Given the description of an element on the screen output the (x, y) to click on. 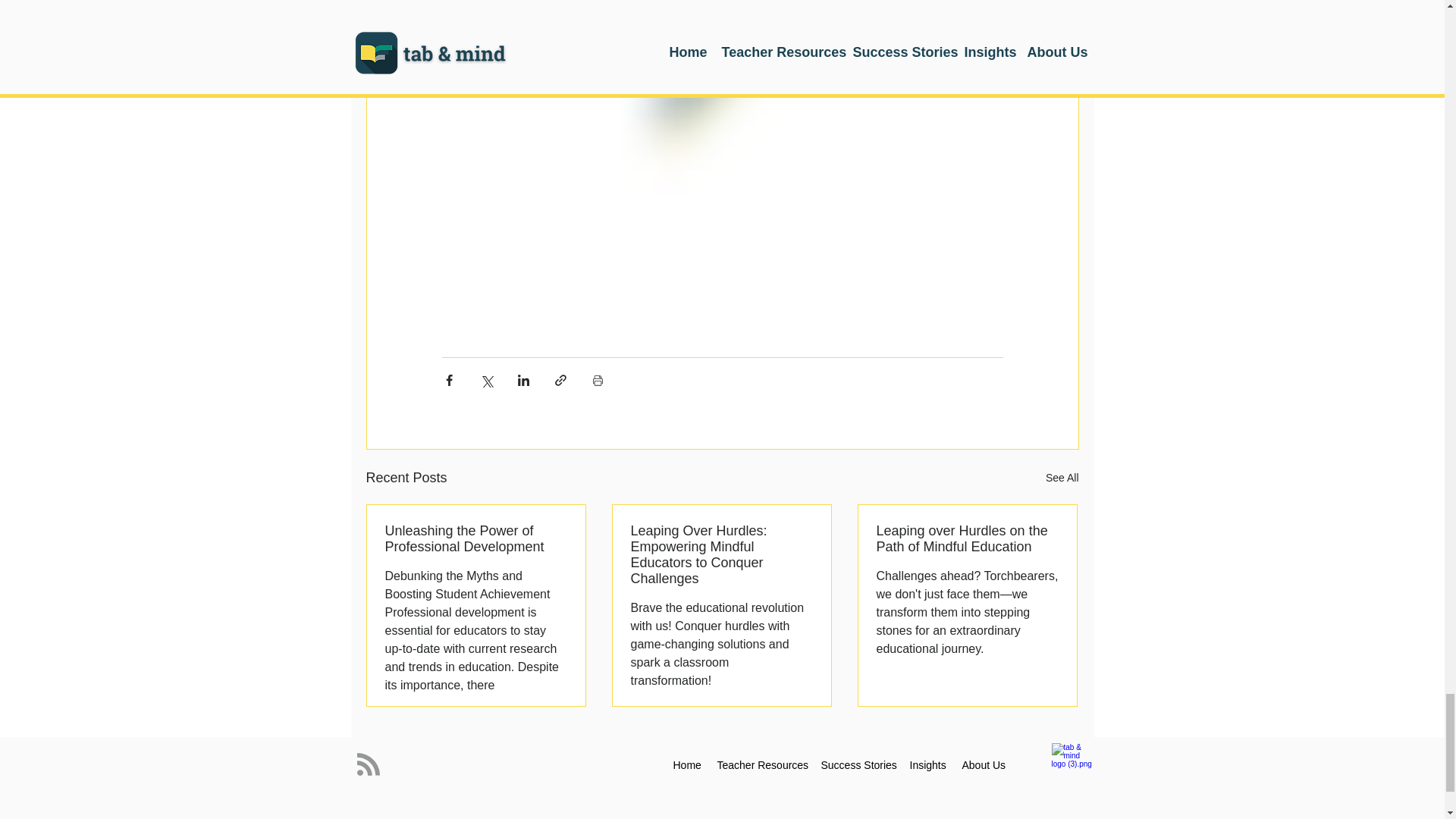
See All (1061, 477)
Home (687, 764)
Leaping over Hurdles on the Path of Mindful Education (967, 539)
Unleashing the Power of Professional Development (476, 539)
Teacher Resources (761, 764)
Success Stories (856, 764)
Insights (928, 764)
About Us (983, 764)
